Given the description of an element on the screen output the (x, y) to click on. 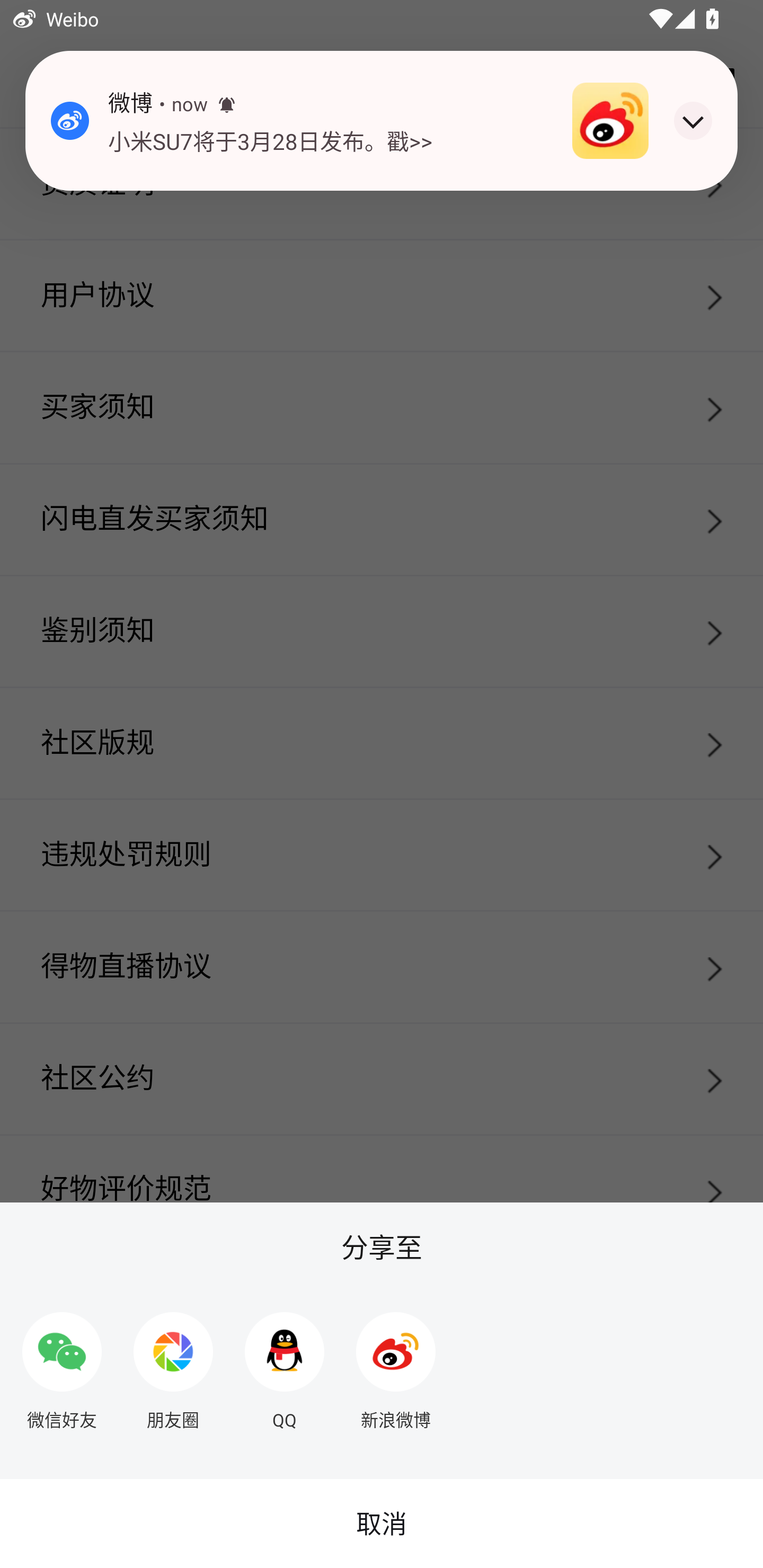
微信好友 (61, 1363)
朋友圈 (172, 1363)
QQ (284, 1363)
新浪微博 (395, 1363)
取消 (381, 1523)
